Given the description of an element on the screen output the (x, y) to click on. 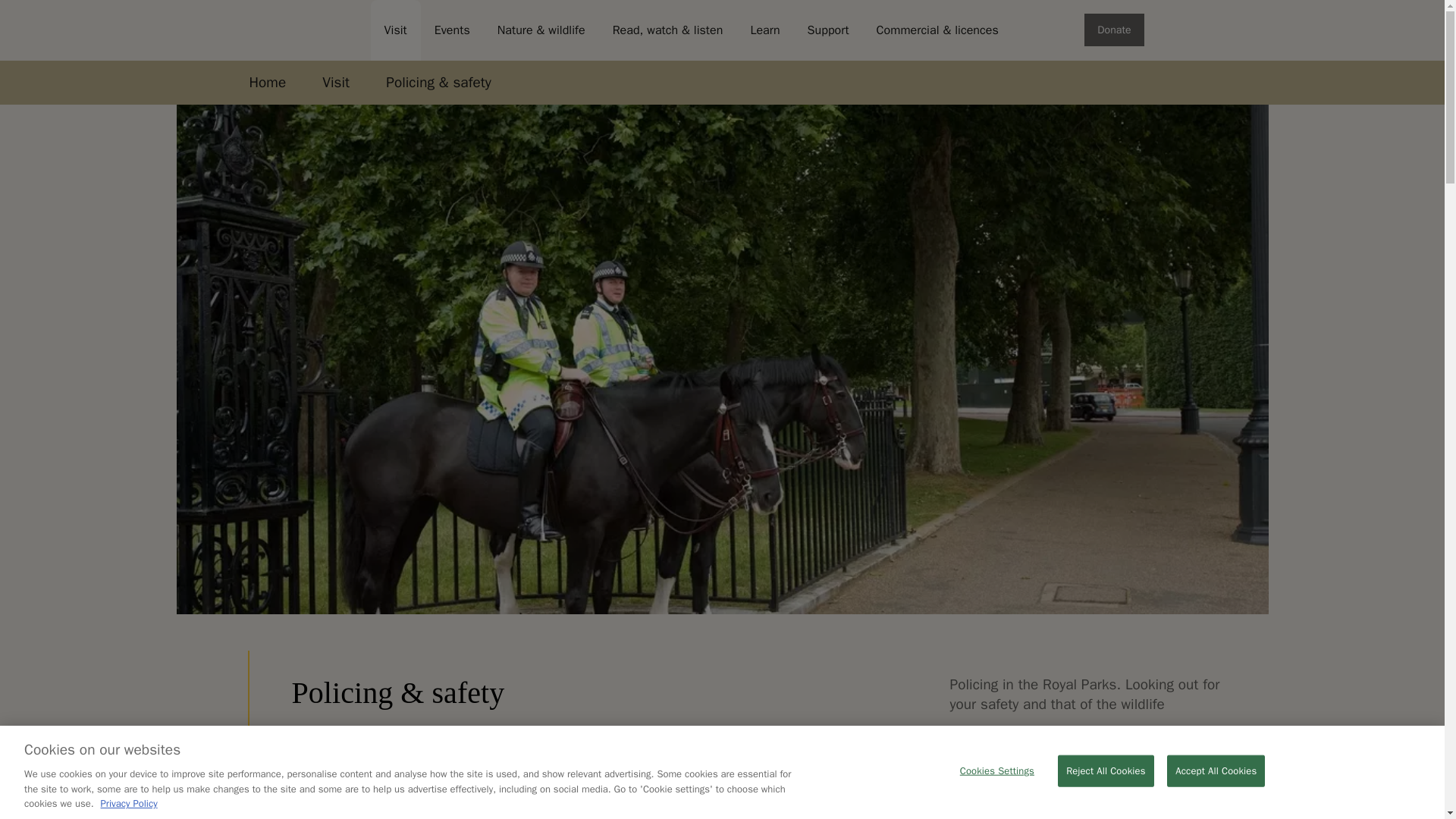
Homepage (297, 29)
Learn (764, 30)
Events (451, 30)
Support (828, 30)
Learn (764, 30)
Events (451, 30)
